Given the description of an element on the screen output the (x, y) to click on. 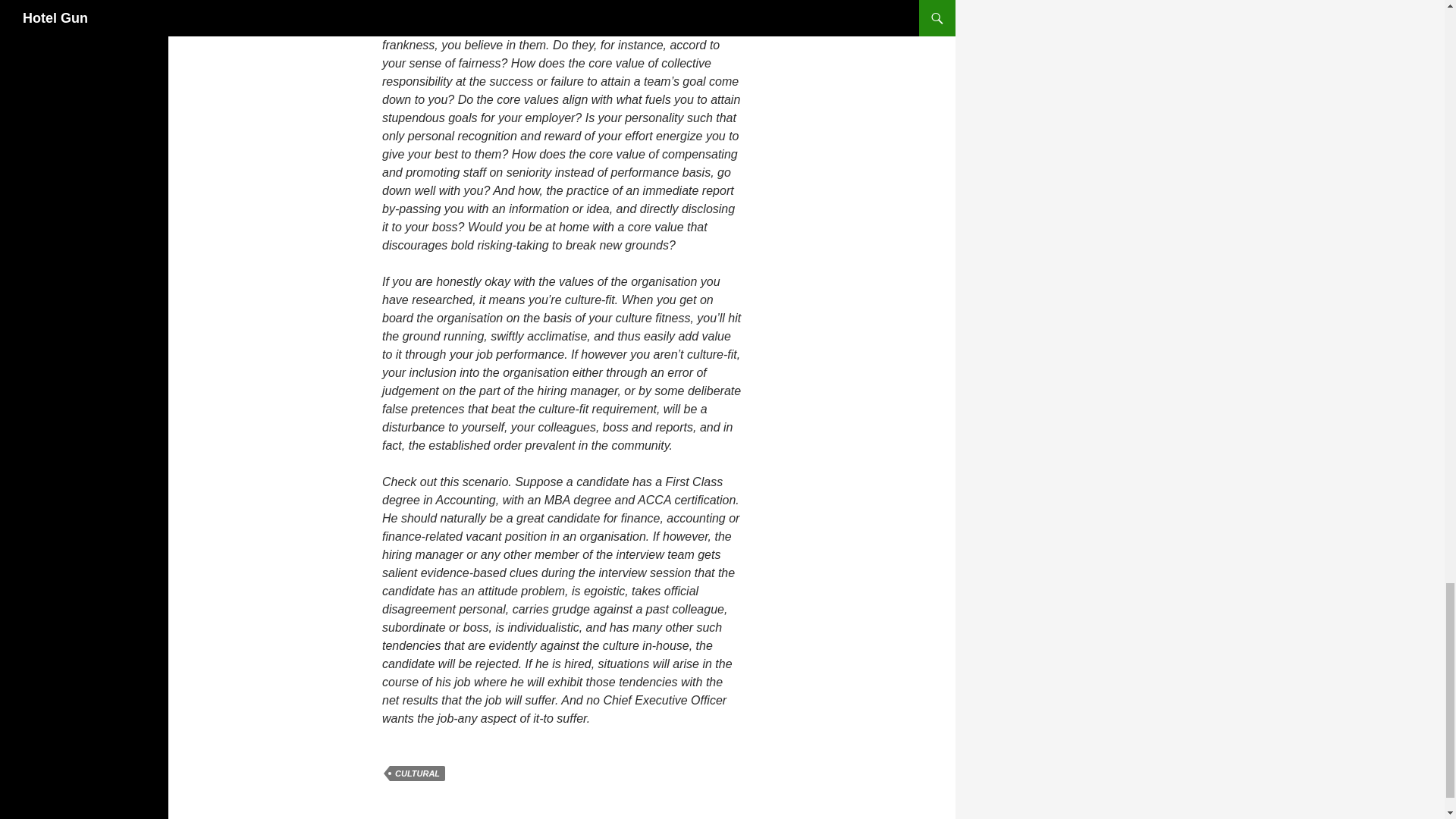
CULTURAL (417, 773)
